Given the description of an element on the screen output the (x, y) to click on. 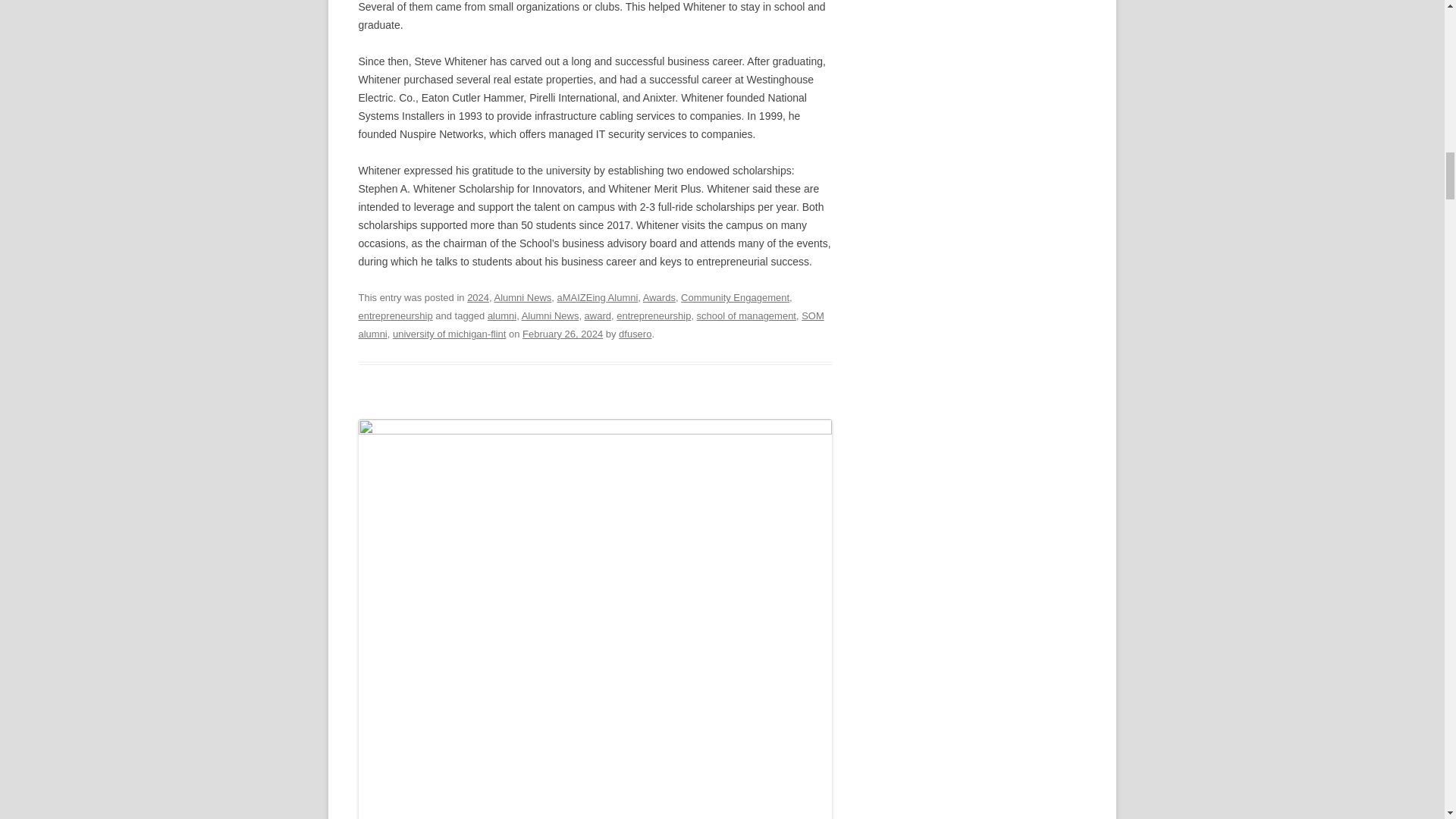
Awards (659, 297)
2024 (478, 297)
aMAIZEing Alumni (596, 297)
Alumni News (523, 297)
View all posts by dfusero (634, 333)
7:51 pm (562, 333)
